Given the description of an element on the screen output the (x, y) to click on. 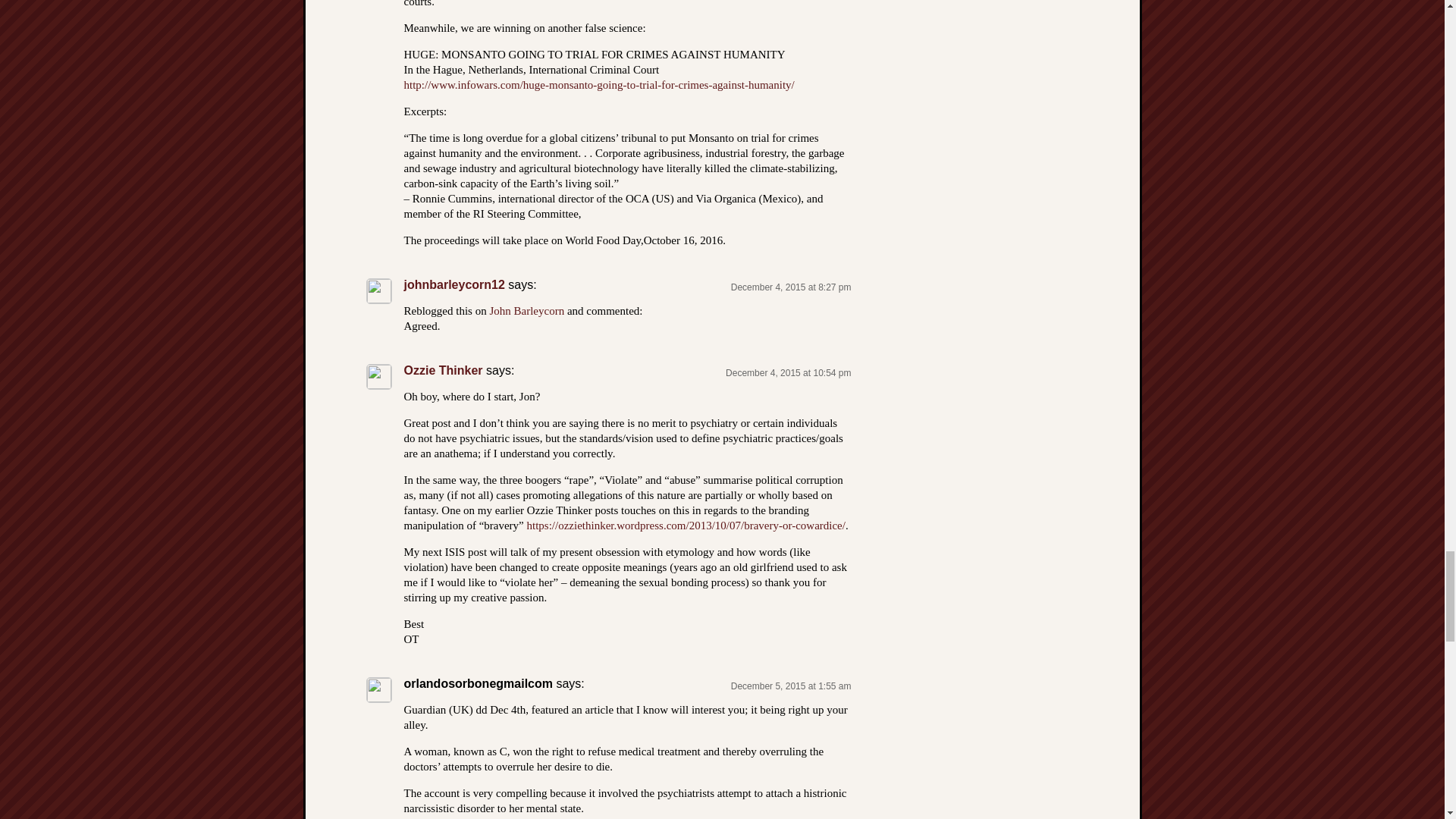
December 4, 2015 at 10:54 pm (787, 372)
Ozzie Thinker (442, 369)
December 5, 2015 at 1:55 am (790, 685)
John Barleycorn (526, 310)
johnbarleycorn12 (453, 284)
December 4, 2015 at 8:27 pm (790, 286)
